Given the description of an element on the screen output the (x, y) to click on. 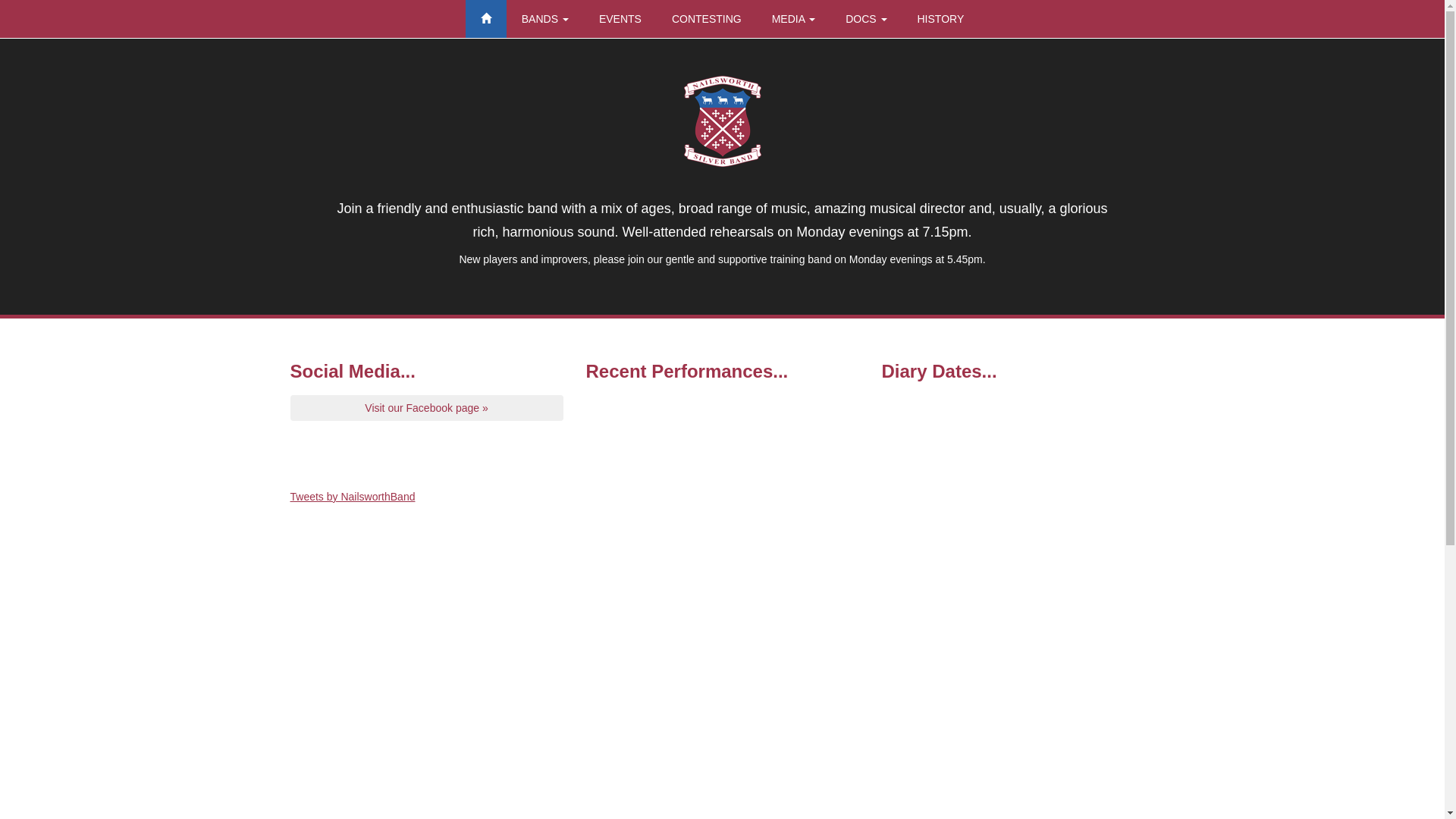
MEDIA Element type: text (793, 18)
BANDS Element type: text (544, 18)
DOCS Element type: text (865, 18)
CONTESTING Element type: text (706, 18)
HISTORY Element type: text (940, 18)
Tweets by NailsworthBand Element type: text (351, 496)
EVENTS Element type: text (619, 18)
